Given the description of an element on the screen output the (x, y) to click on. 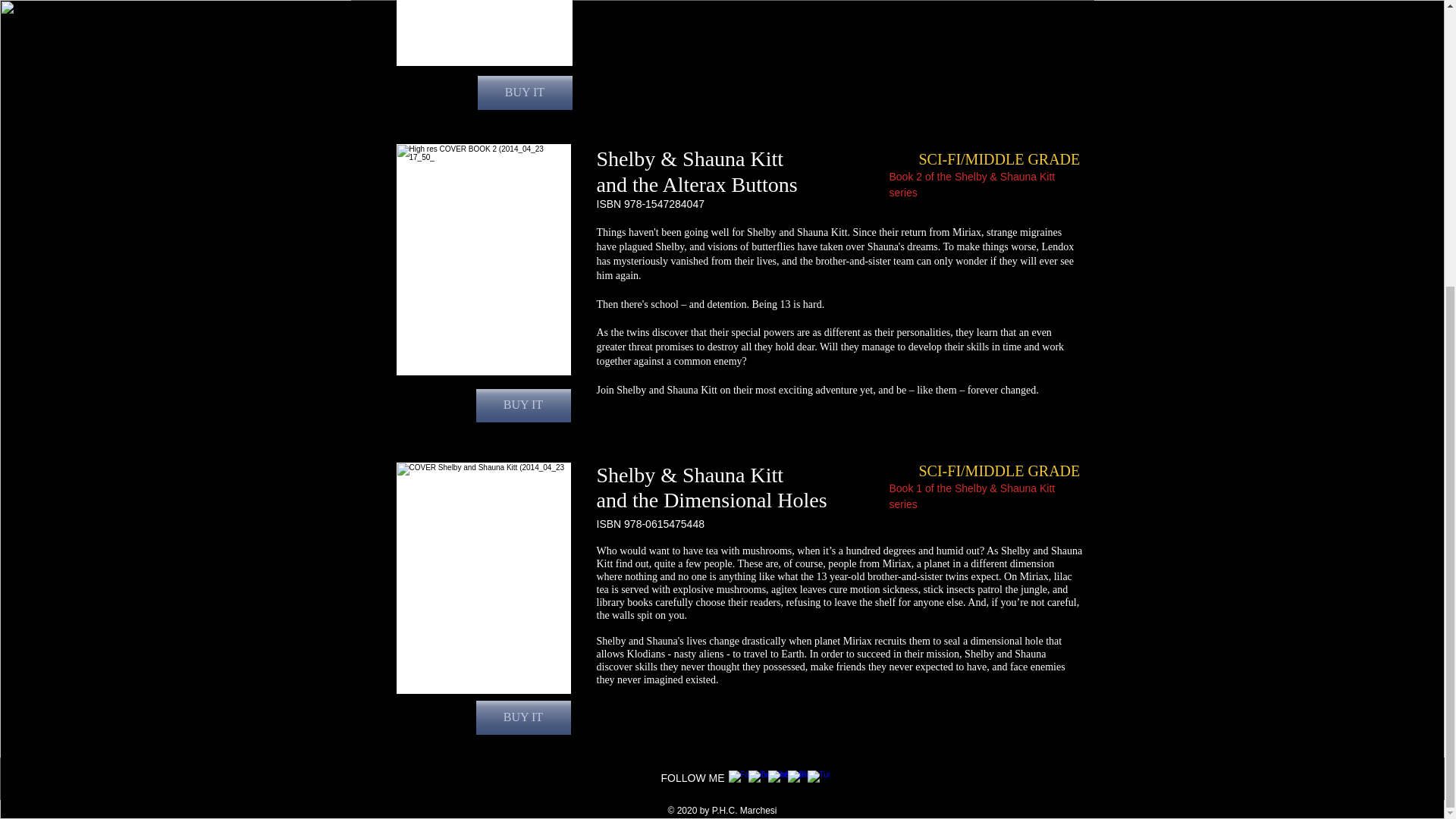
BUY IT (523, 405)
BUY IT (523, 717)
BUY IT (524, 92)
